Given the description of an element on the screen output the (x, y) to click on. 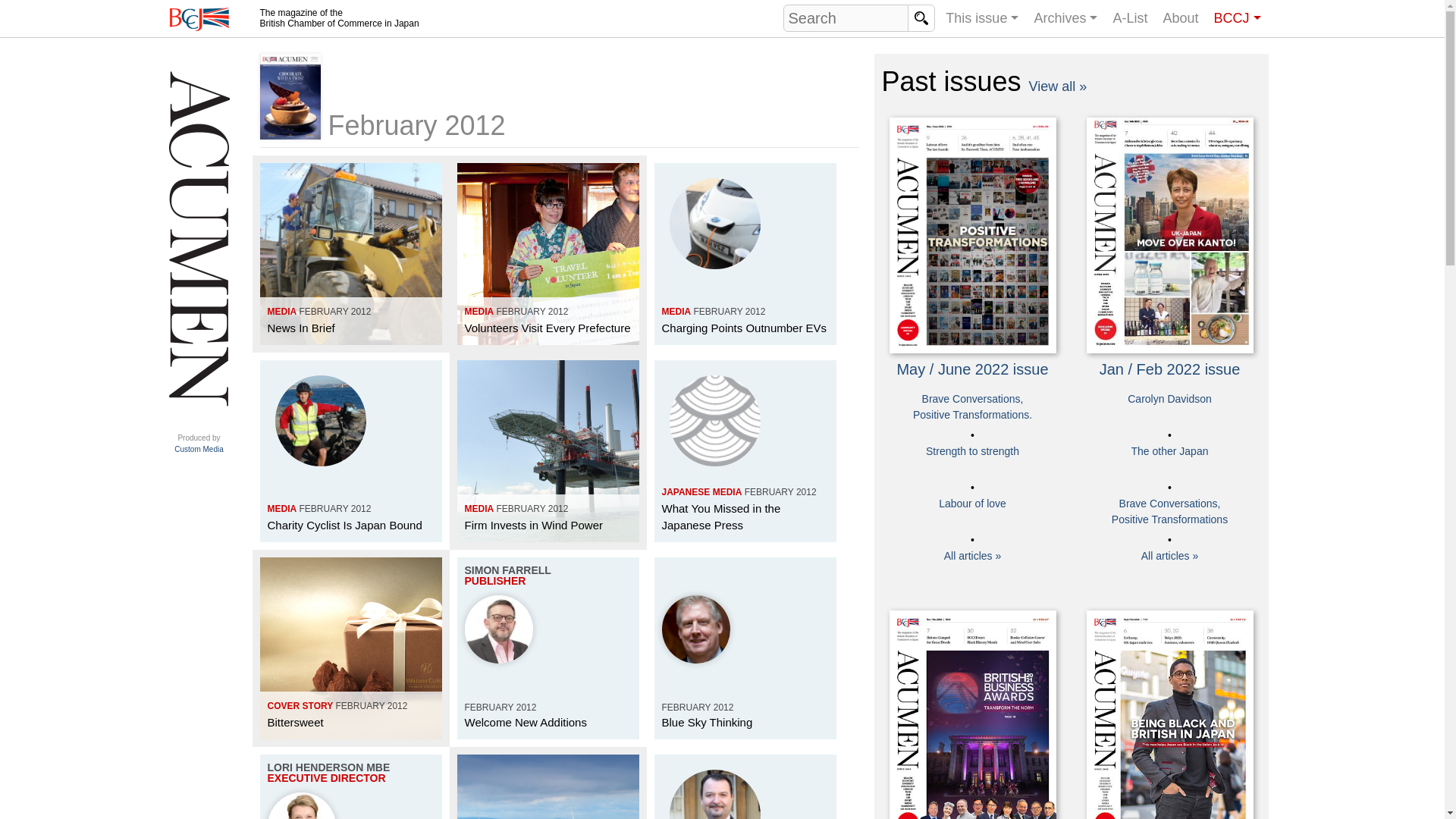
search (920, 17)
This issue (198, 443)
Archives (981, 19)
British Chamber of Commerce in Japan (1065, 19)
search (198, 19)
